Given the description of an element on the screen output the (x, y) to click on. 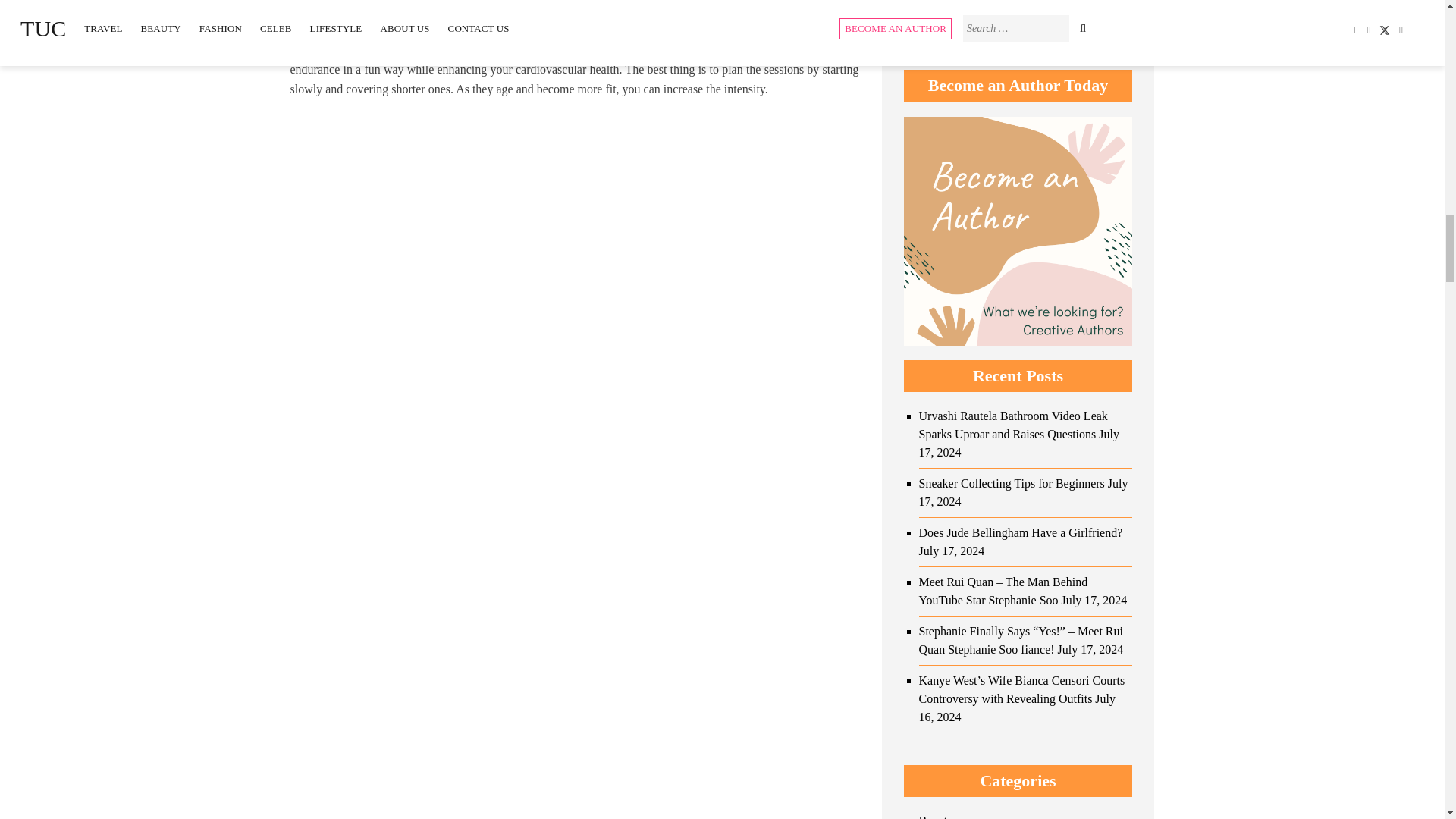
Advertisement (574, 773)
